Given the description of an element on the screen output the (x, y) to click on. 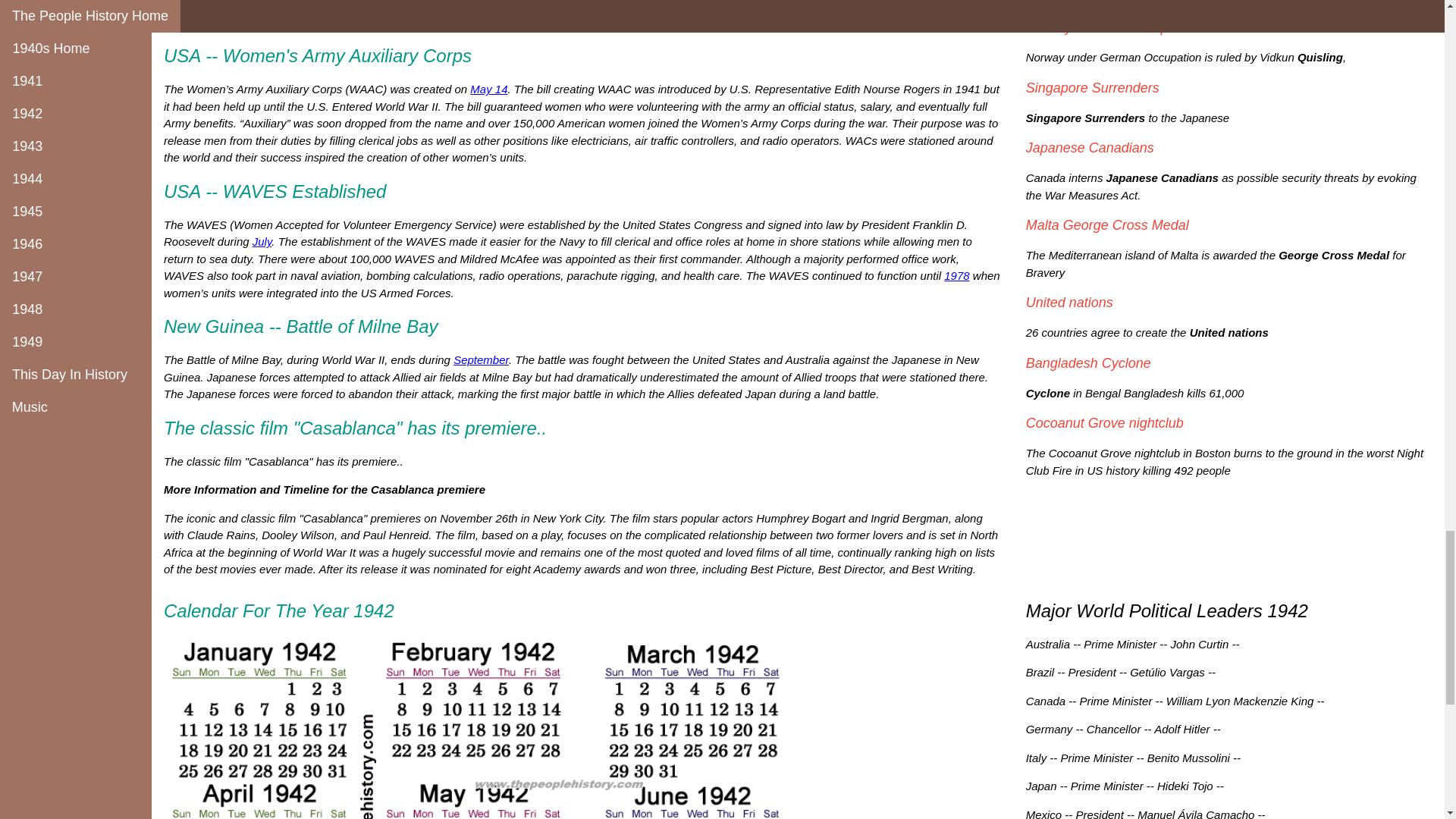
July (261, 241)
September (480, 359)
May 14 (488, 88)
1978 (956, 275)
